Given the description of an element on the screen output the (x, y) to click on. 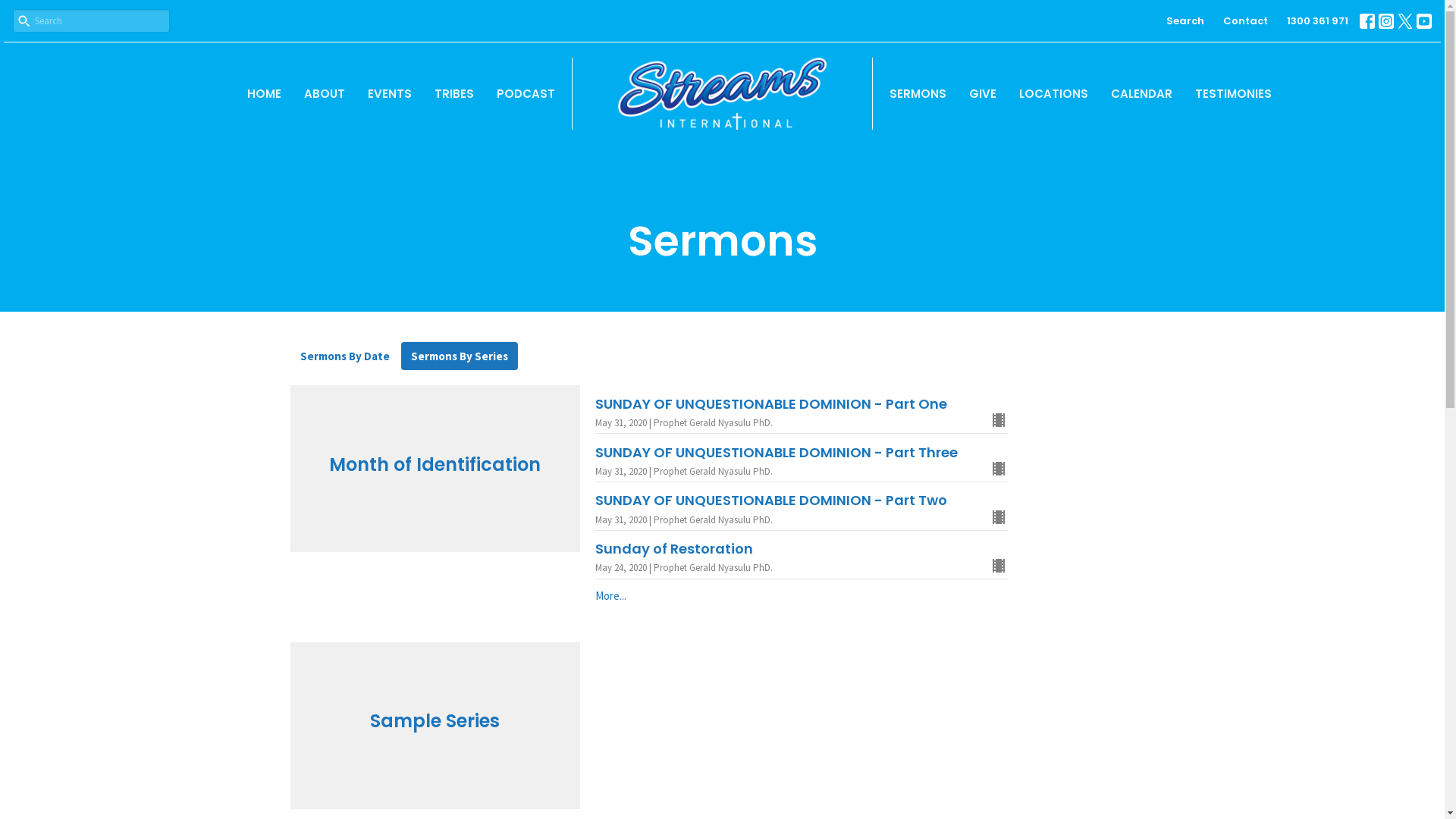
Sermons By Series Element type: text (458, 356)
Contact Element type: text (1245, 20)
ABOUT Element type: text (324, 93)
EVENTS Element type: text (389, 93)
More... Element type: text (801, 595)
TESTIMONIES Element type: text (1233, 93)
PODCAST Element type: text (525, 93)
HOME Element type: text (264, 93)
GIVE Element type: text (982, 93)
CALENDAR Element type: text (1141, 93)
Sermons By Date Element type: text (343, 356)
1300 361 971 Element type: text (1317, 20)
LOCATIONS Element type: text (1053, 93)
TRIBES Element type: text (453, 93)
Sample Series Element type: text (434, 725)
Search Element type: text (1184, 20)
SERMONS Element type: text (917, 93)
Month of Identification Element type: text (434, 468)
